Given the description of an element on the screen output the (x, y) to click on. 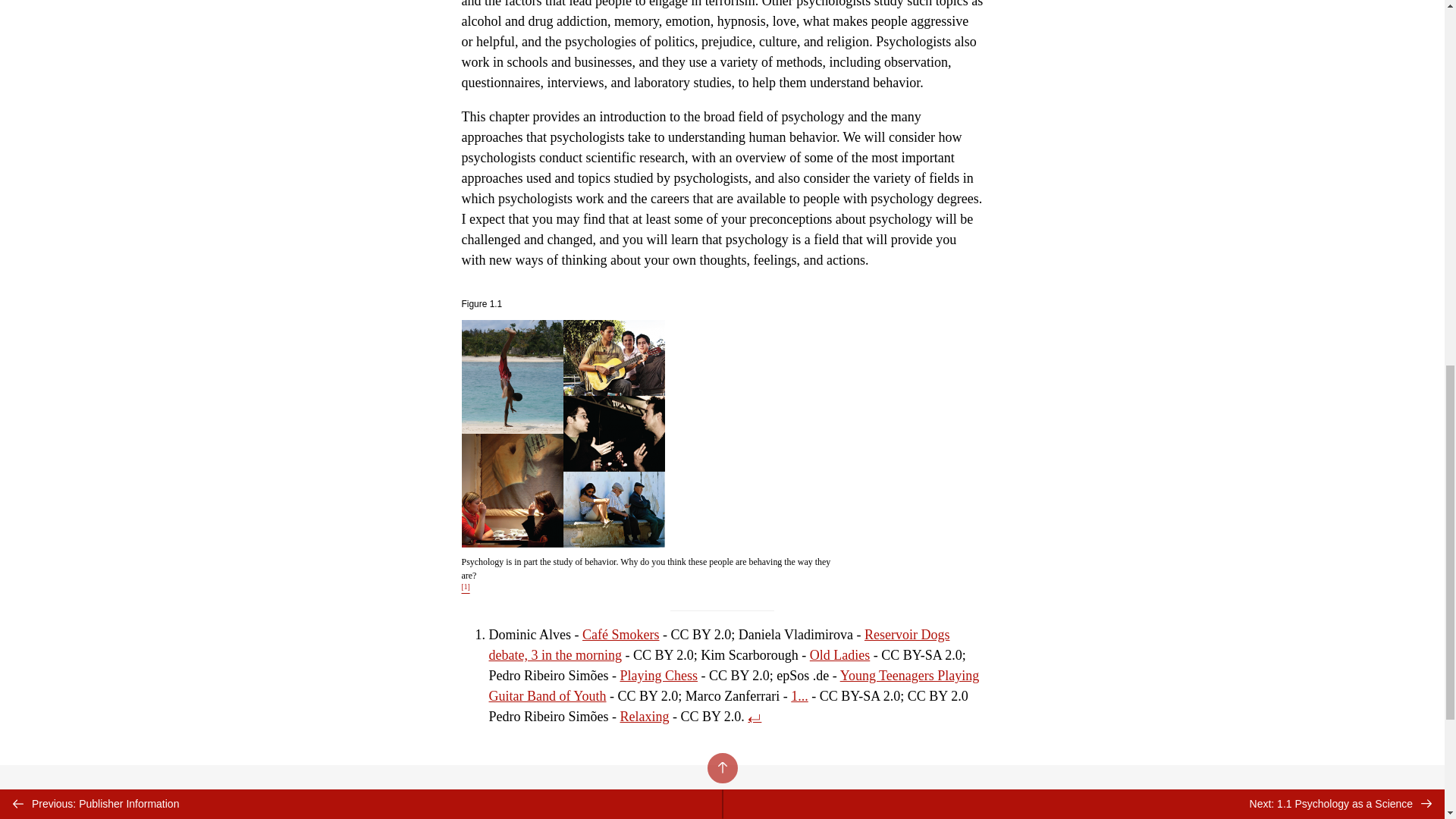
Old Ladies (839, 654)
Relaxing (644, 716)
1... (799, 695)
Playing Chess (659, 675)
Young Teenagers Playing Guitar Band of Youth (732, 685)
Reservoir Dogs debate, 3 in the morning (718, 644)
